Given the description of an element on the screen output the (x, y) to click on. 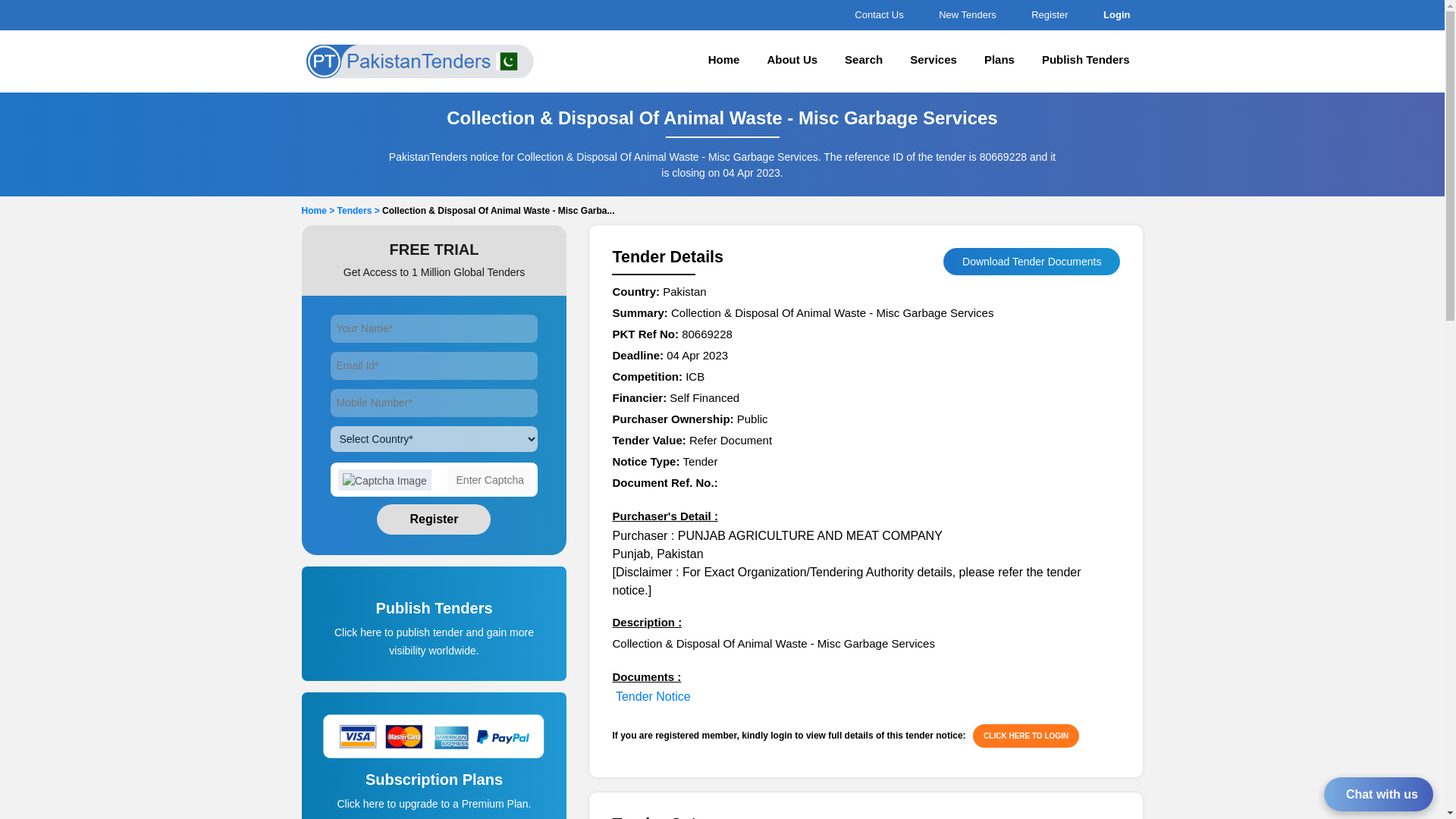
Download Tender Documents (1031, 261)
Plans (999, 61)
Contact Us (876, 14)
Register (1047, 14)
Publish Tenders (434, 618)
Home (724, 61)
Services (933, 61)
Tender Notice (652, 696)
About Us (791, 61)
Click here to upgrade to a Premium Plan. (433, 803)
Subscription Plans (434, 794)
CLICK HERE TO LOGIN (1025, 735)
Login (1114, 14)
Publish Tenders (1084, 61)
Search (863, 61)
